Given the description of an element on the screen output the (x, y) to click on. 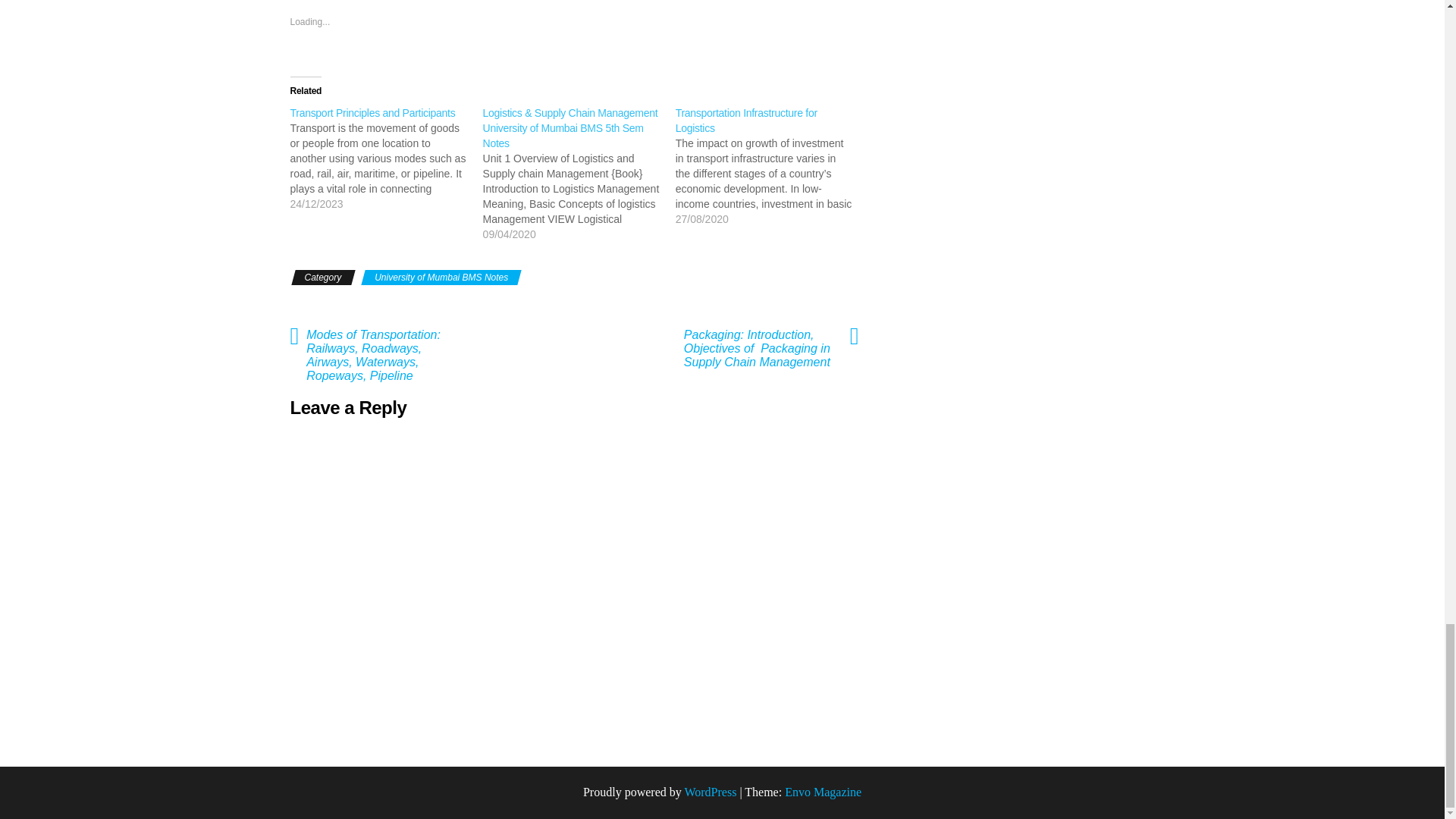
Transport Principles and Participants (371, 112)
University of Mumbai BMS Notes (440, 277)
Transportation Infrastructure for Logistics (745, 120)
